Given the description of an element on the screen output the (x, y) to click on. 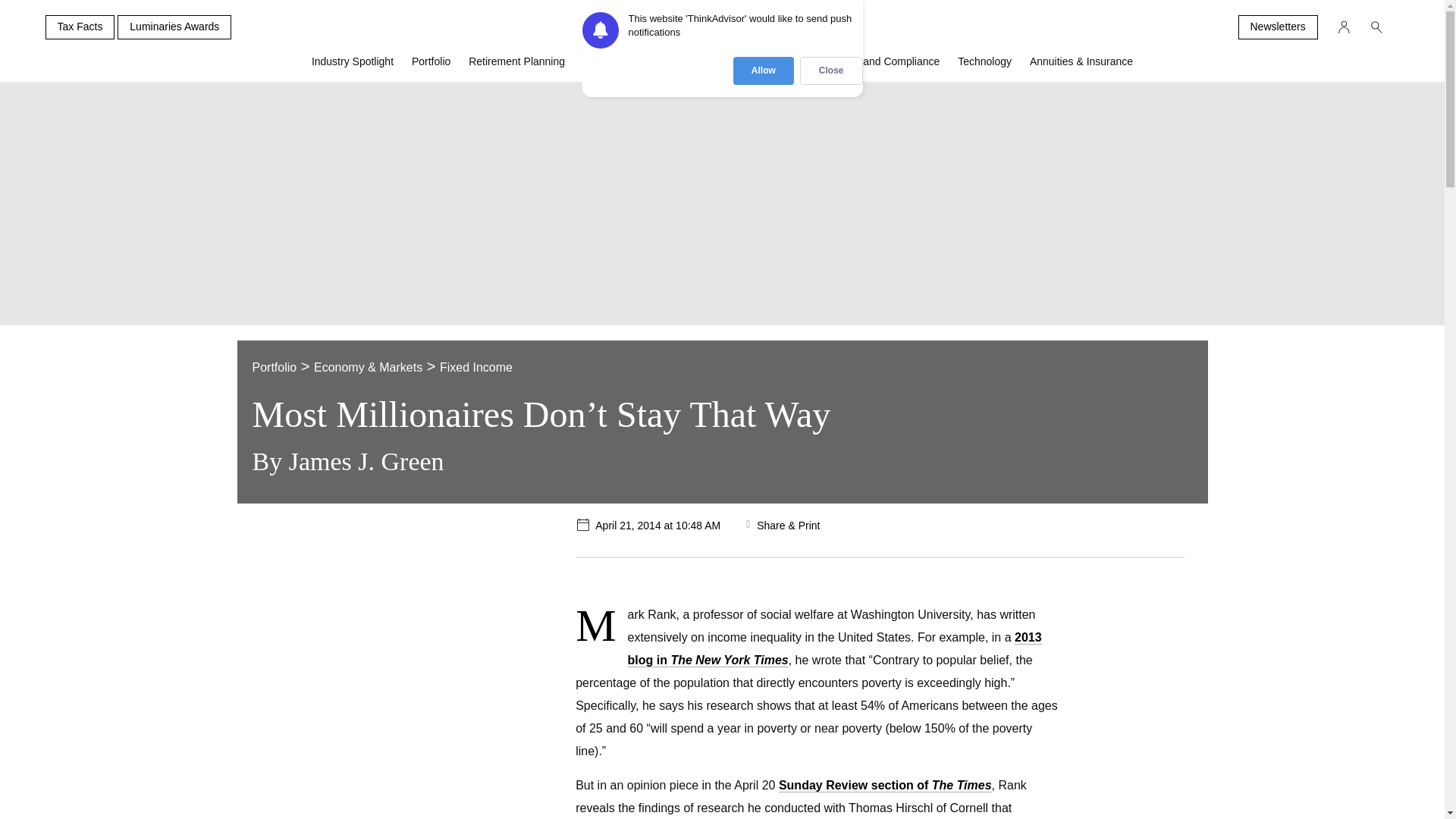
Industry Spotlight (352, 67)
Tax Facts (80, 27)
Luminaries Awards (174, 27)
Newsletters (1277, 27)
3rd party ad content (372, 613)
